Given the description of an element on the screen output the (x, y) to click on. 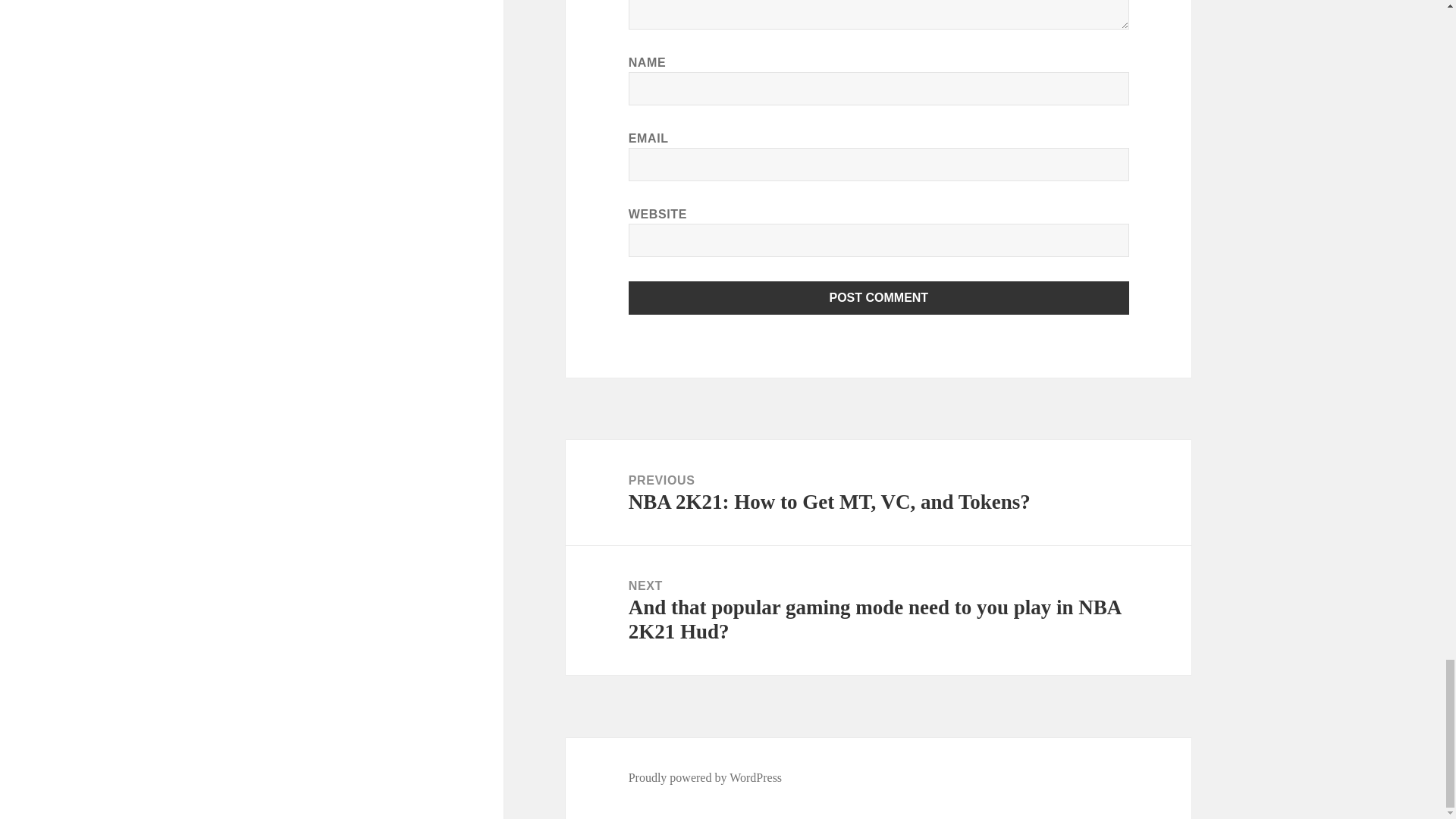
Post Comment (878, 297)
